Given the description of an element on the screen output the (x, y) to click on. 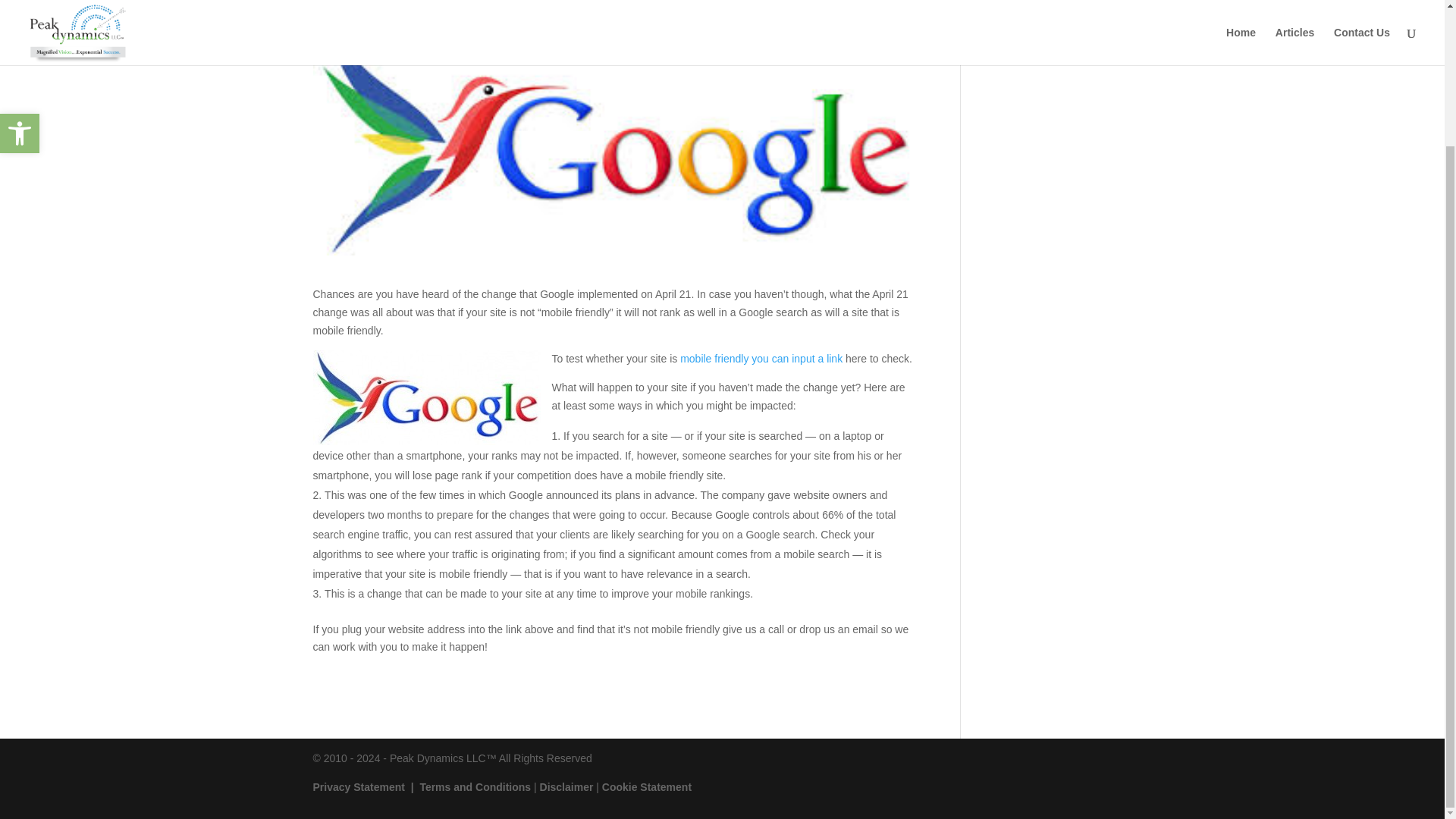
Terms and Conditions (475, 787)
Cookie Statement (646, 787)
Disclaimer (567, 787)
mobile friendly you can input a link (761, 358)
